Given the description of an element on the screen output the (x, y) to click on. 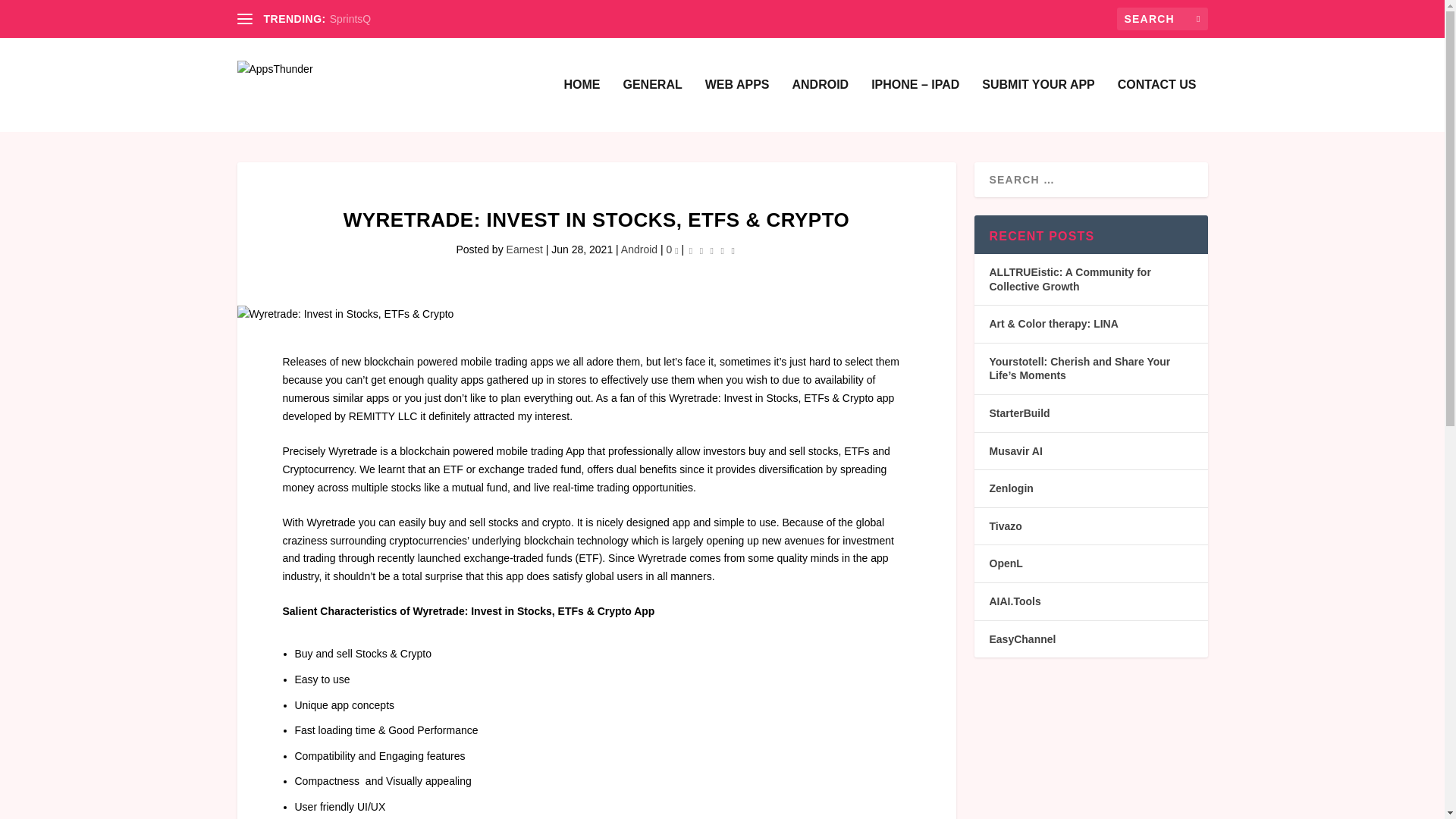
Search for: (1161, 18)
Rating: 0.00 (711, 250)
ALLTRUEistic: A Community for Collective Growth (1069, 279)
Android (639, 249)
SprintsQ (350, 19)
CONTACT US (1157, 104)
Zenlogin (1010, 488)
Tivazo (1005, 526)
Musavir AI (1015, 451)
WEB APPS (737, 104)
Earnest (524, 249)
ANDROID (820, 104)
comment count (676, 251)
SUBMIT YOUR APP (1037, 104)
GENERAL (652, 104)
